Given the description of an element on the screen output the (x, y) to click on. 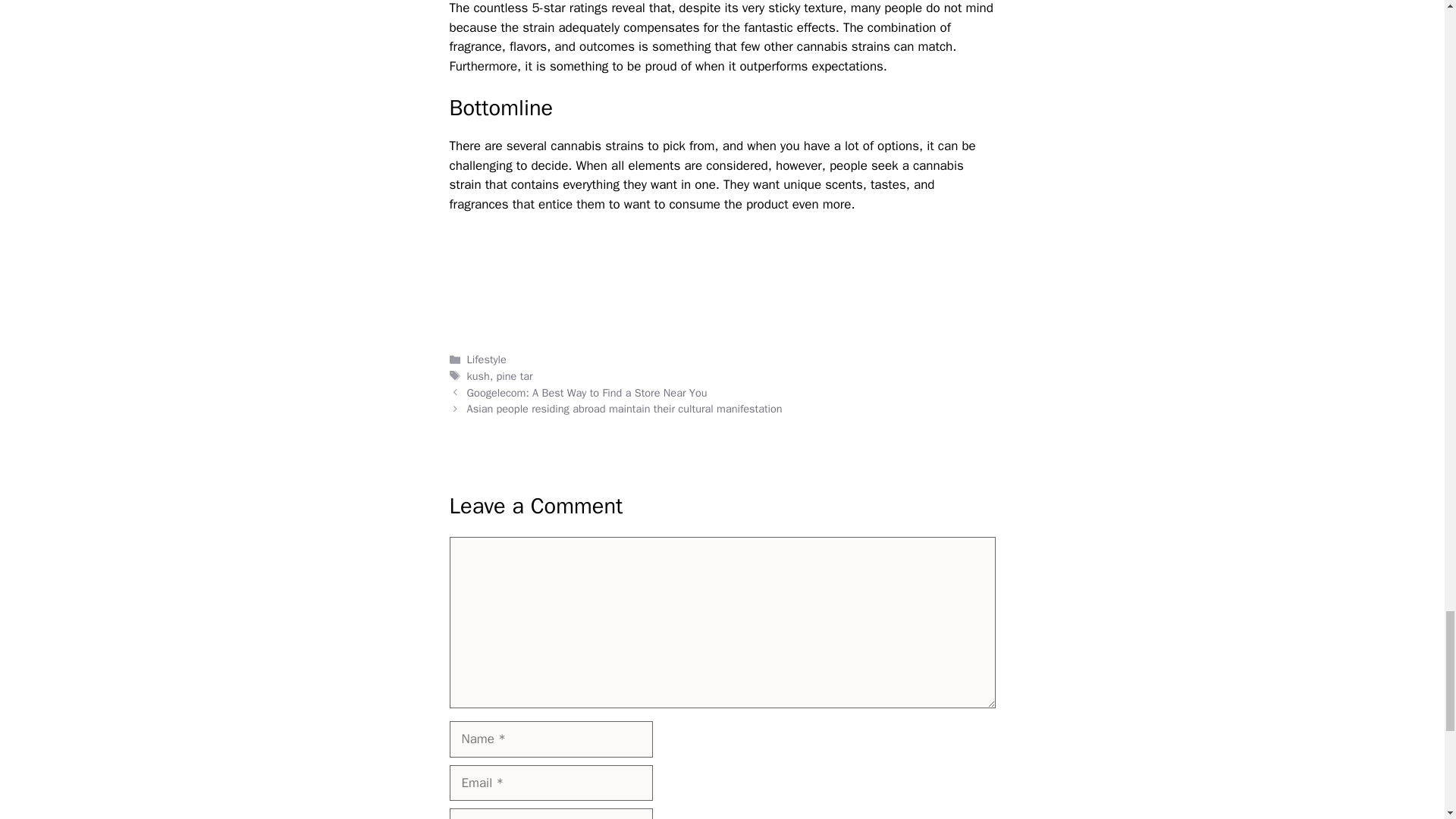
Lifestyle (486, 359)
pine tar (514, 376)
kush (478, 376)
Googelecom: A Best Way to Find a Store Near You (587, 392)
